Given the description of an element on the screen output the (x, y) to click on. 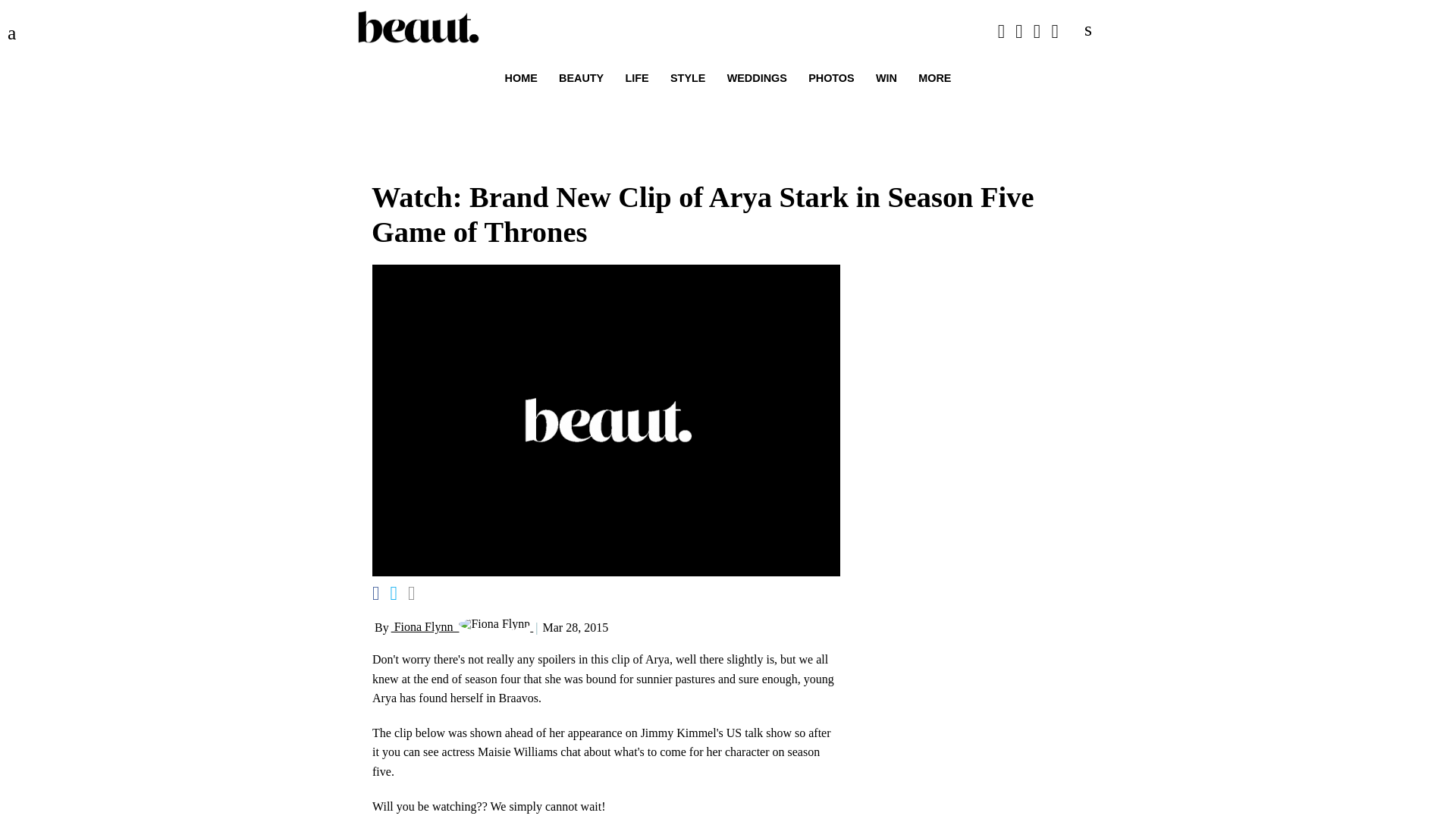
BEAUTY (581, 78)
HOME (521, 78)
